Given the description of an element on the screen output the (x, y) to click on. 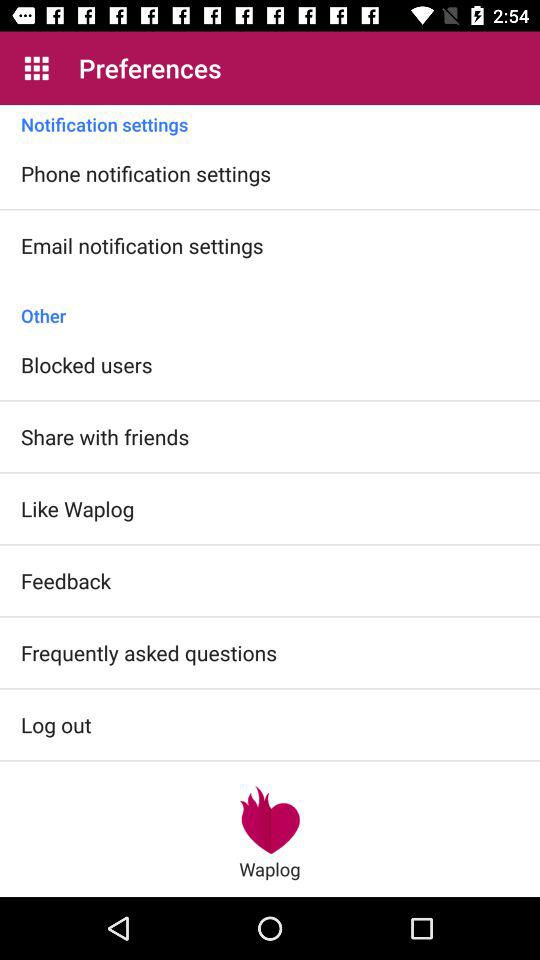
choose icon below frequently asked questions item (269, 819)
